Given the description of an element on the screen output the (x, y) to click on. 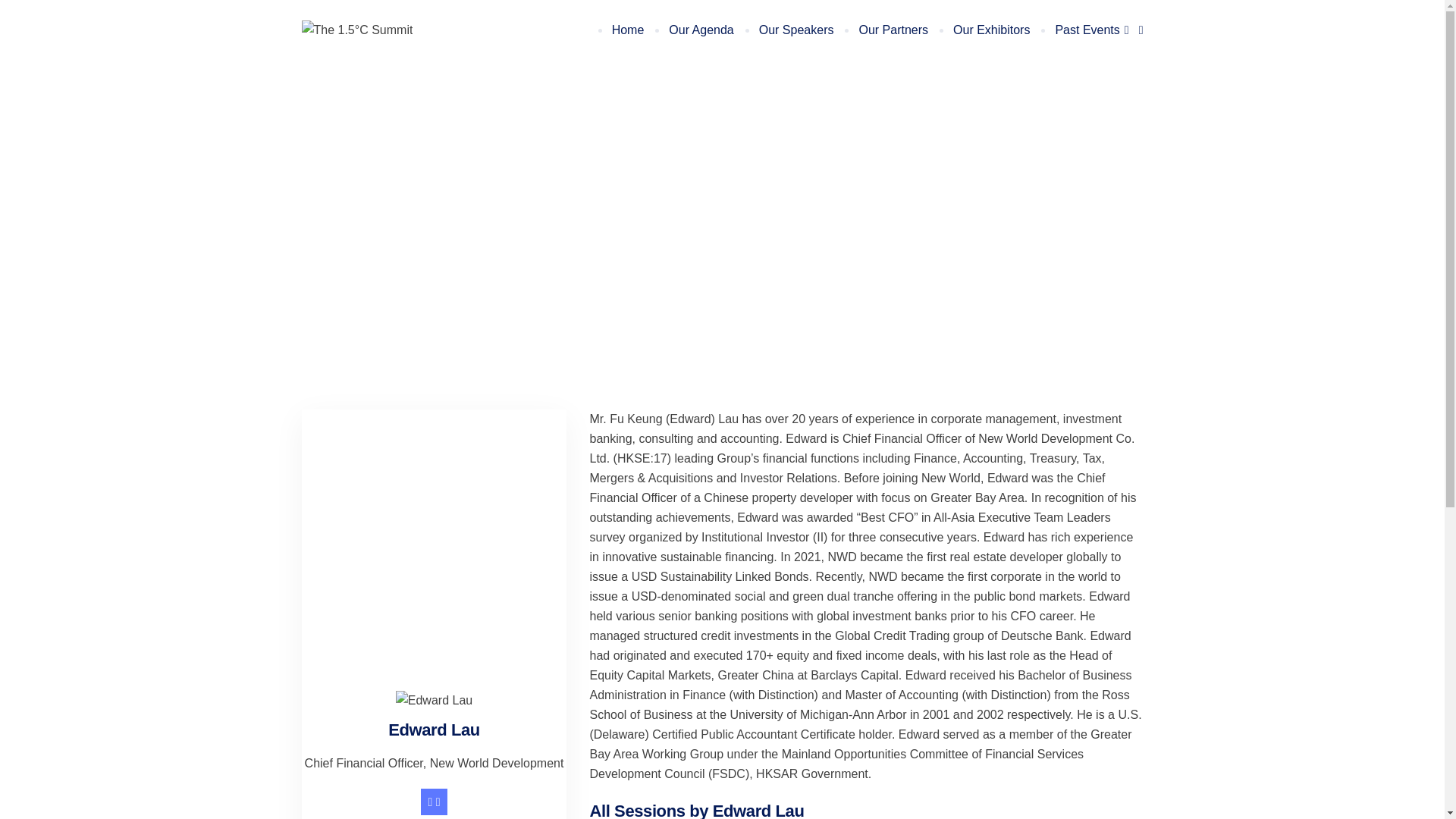
Our Partners (891, 30)
Home (627, 30)
Past Events (1091, 30)
Our Agenda (699, 30)
Our Speakers (795, 30)
Our Exhibitors (990, 30)
